Given the description of an element on the screen output the (x, y) to click on. 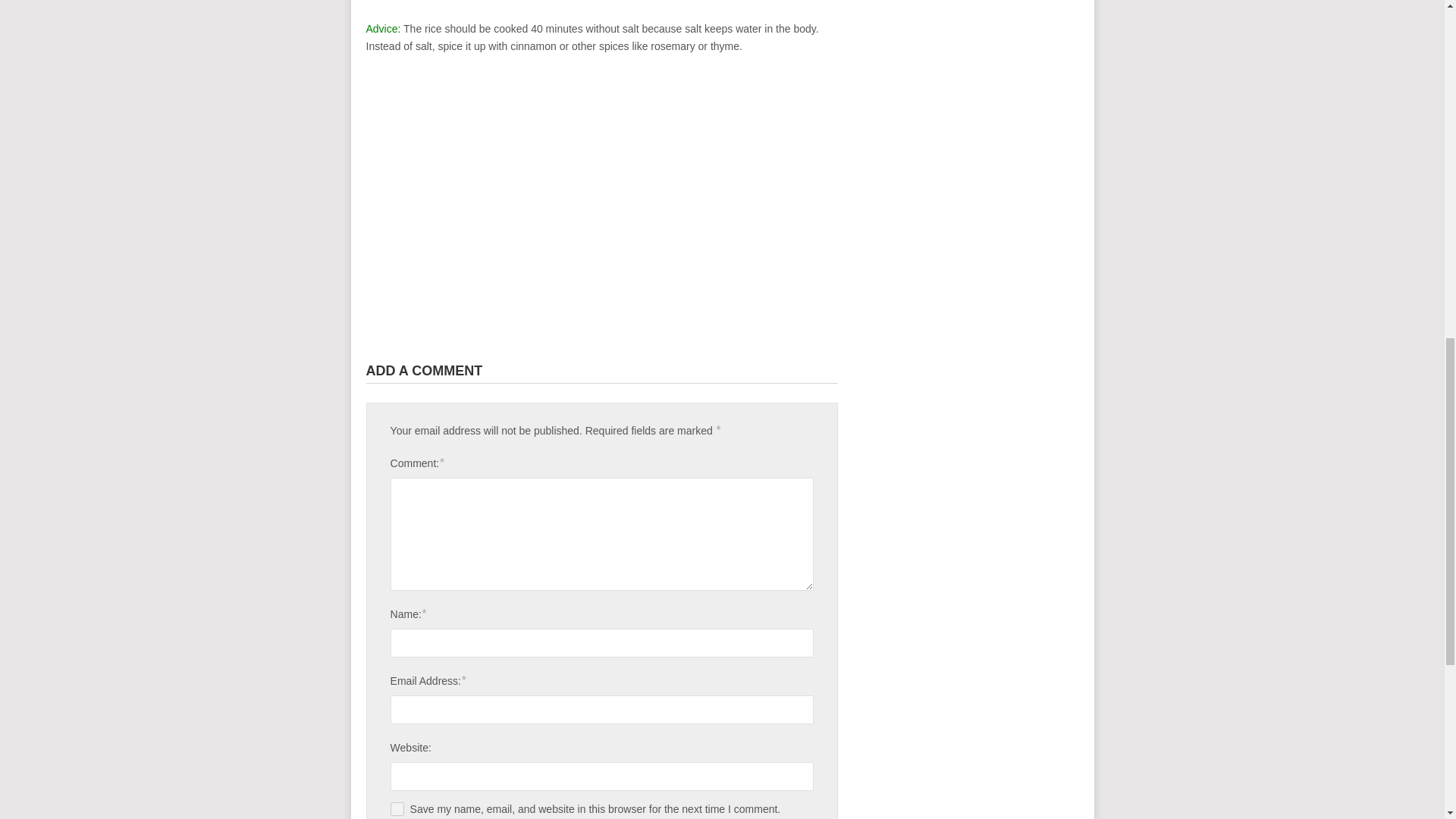
yes (397, 808)
Advertisement (602, 6)
Advertisement (602, 205)
